Given the description of an element on the screen output the (x, y) to click on. 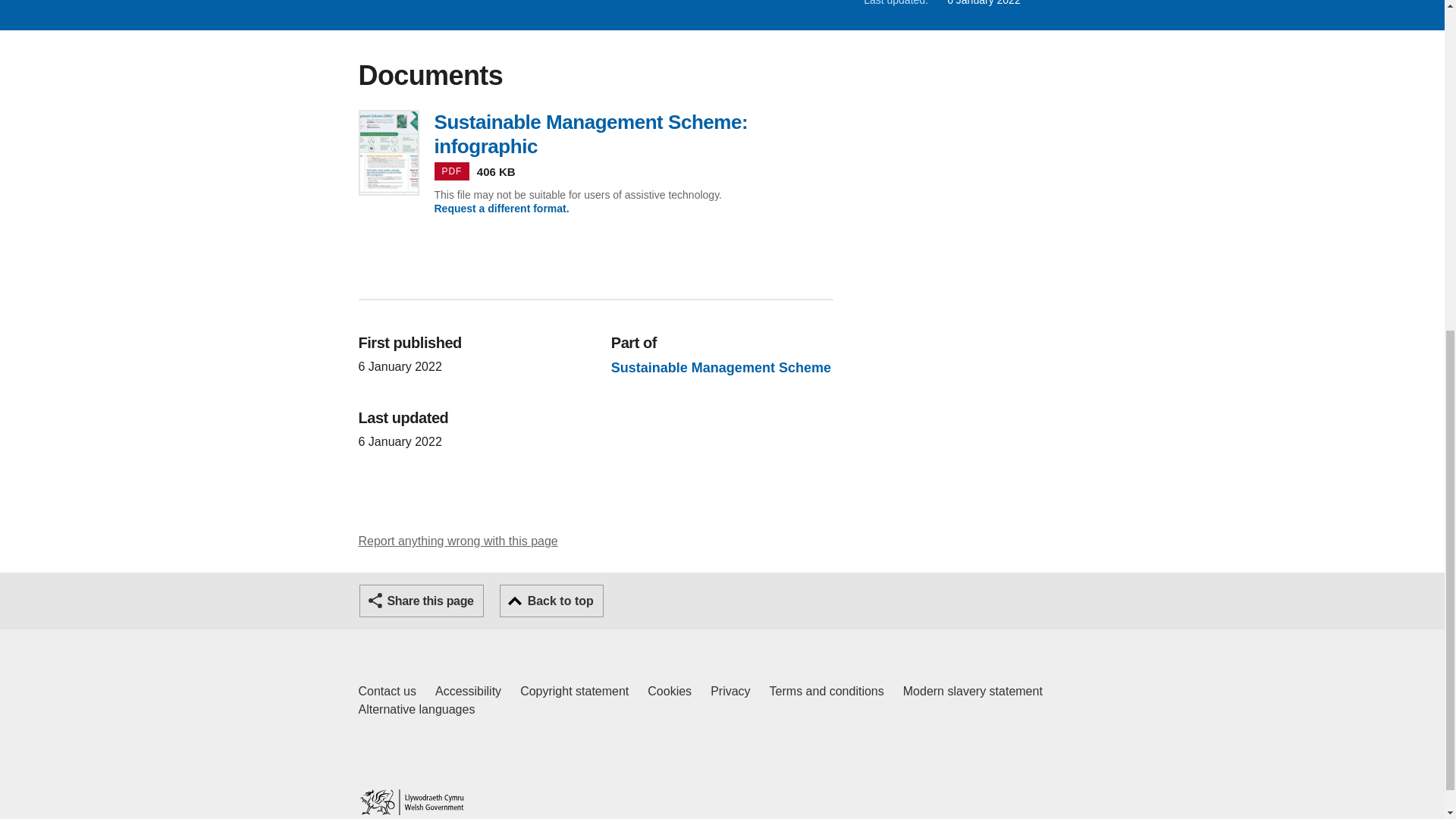
Copyright statement (573, 691)
Privacy (729, 691)
Back to top (551, 600)
Terms and conditions (826, 691)
Modern slavery statement (972, 691)
Home (411, 801)
Report anything wrong with this page (386, 691)
Accessibility (457, 540)
